Given the description of an element on the screen output the (x, y) to click on. 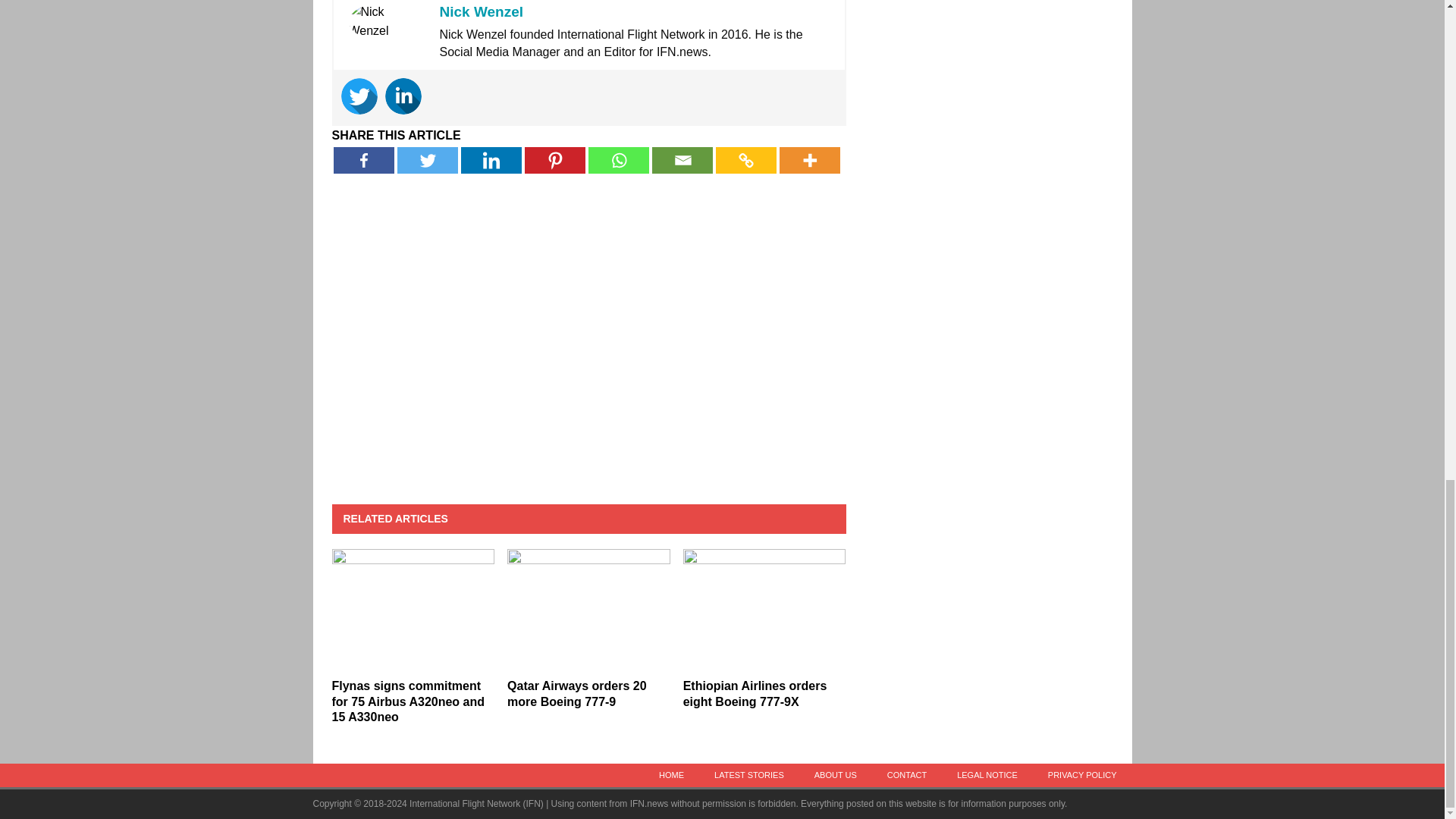
Linkedin (491, 160)
More (809, 160)
Twitter (358, 95)
Email (682, 160)
Facebook (363, 160)
Pinterest (554, 160)
Whatsapp (618, 160)
Copy Link (746, 160)
Twitter (427, 160)
Linkedin (403, 95)
